Given the description of an element on the screen output the (x, y) to click on. 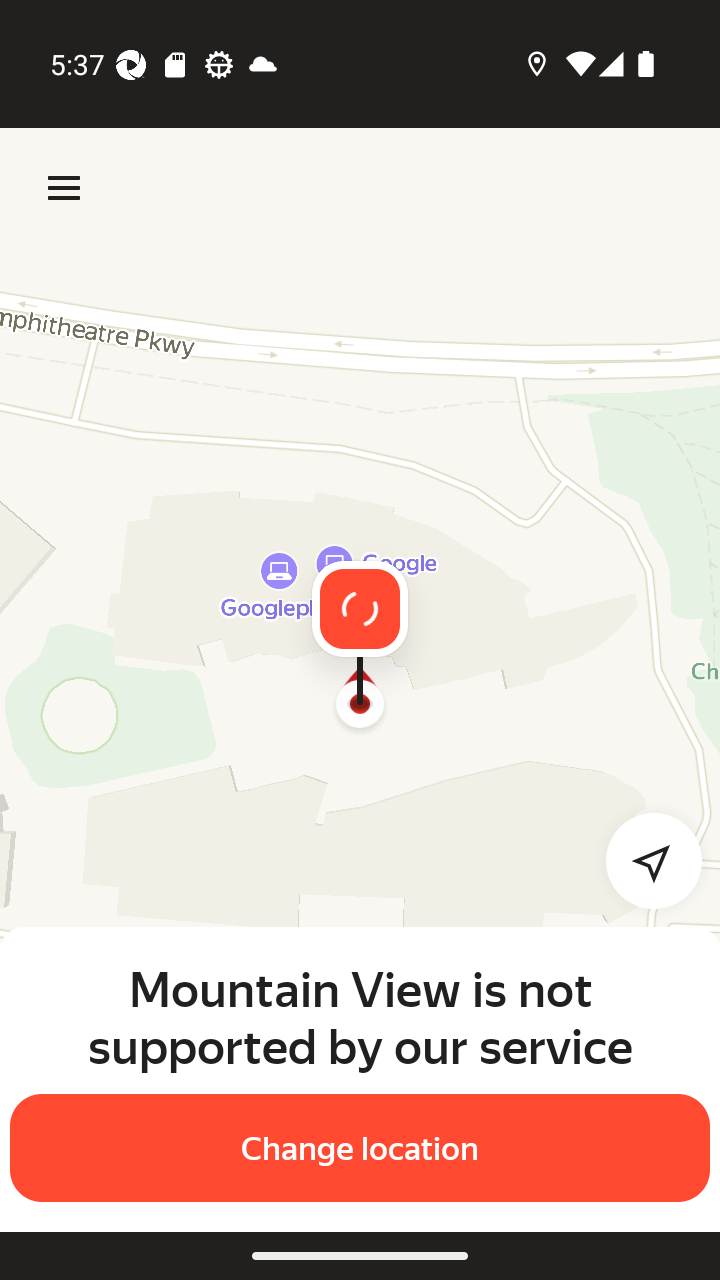
Menu Menu Menu (64, 188)
Detect my location (641, 860)
Mountain View is not supported by our service (360, 1017)
Change location (359, 1147)
